Given the description of an element on the screen output the (x, y) to click on. 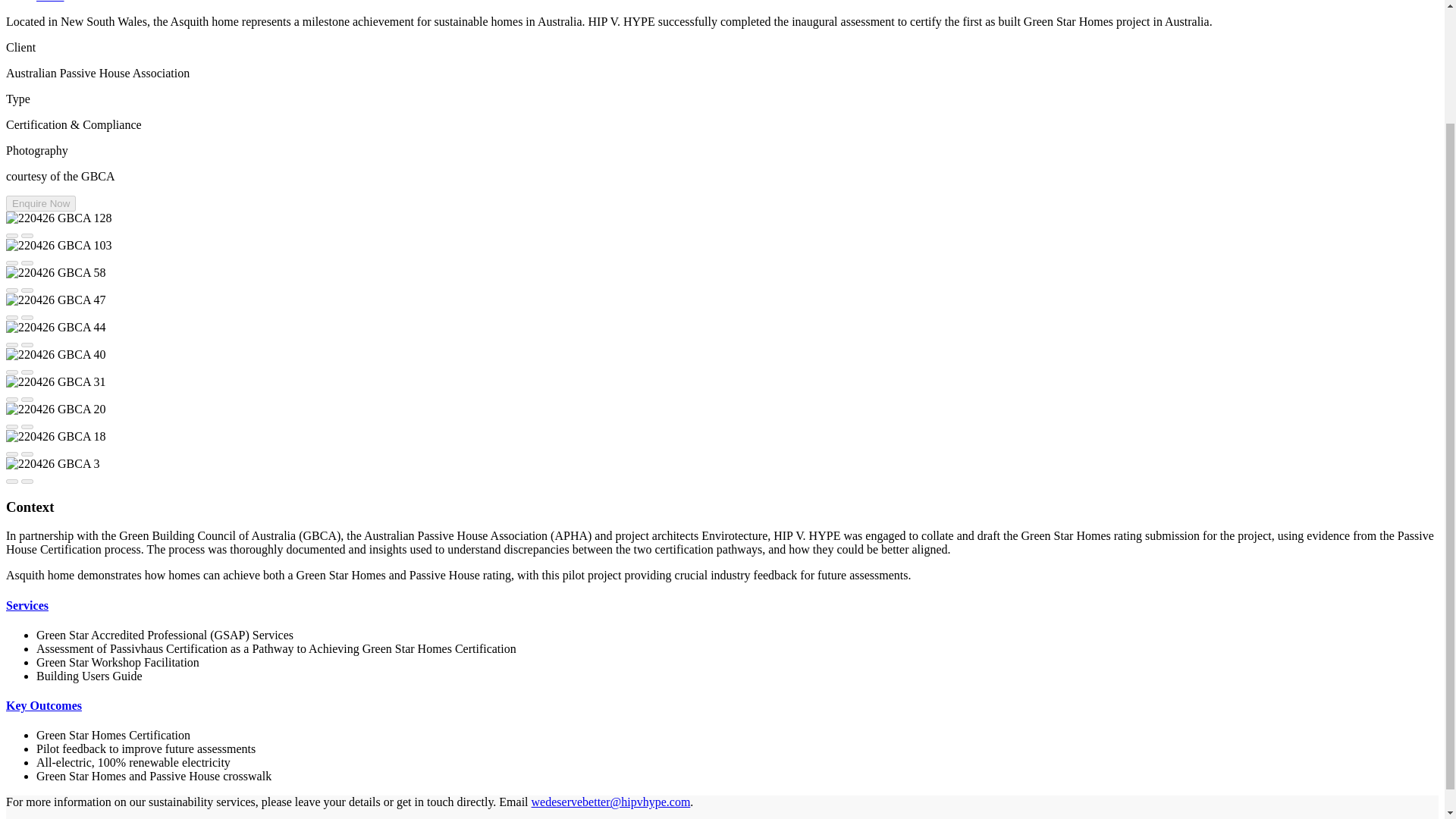
Close (50, 1)
Enquire Now (40, 203)
Next (27, 263)
Previous (11, 427)
Next (27, 317)
Close (50, 1)
Next (27, 399)
Previous (11, 372)
Next (27, 372)
Previous (11, 317)
